Given the description of an element on the screen output the (x, y) to click on. 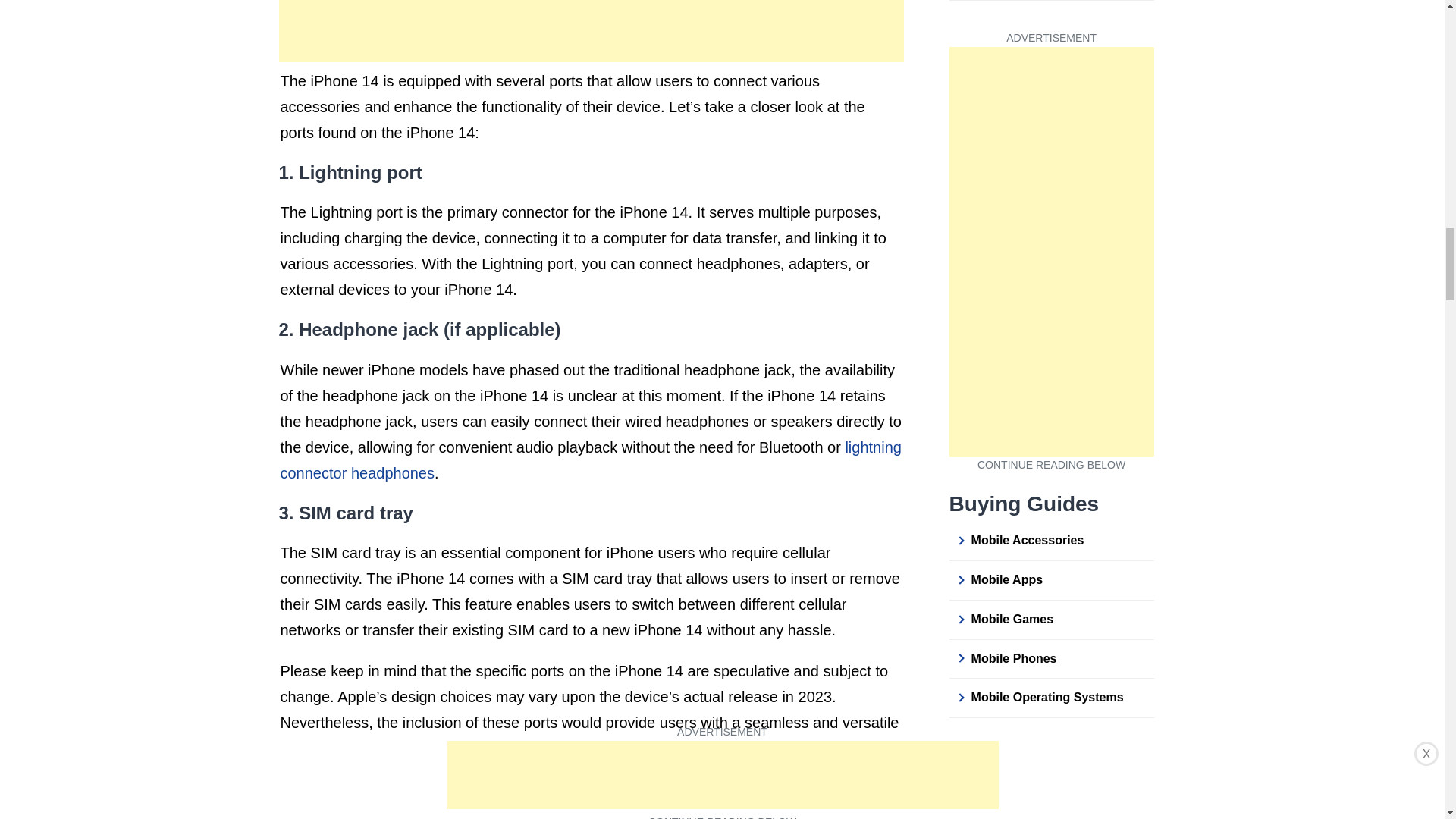
lightning connector headphones (591, 459)
